Given the description of an element on the screen output the (x, y) to click on. 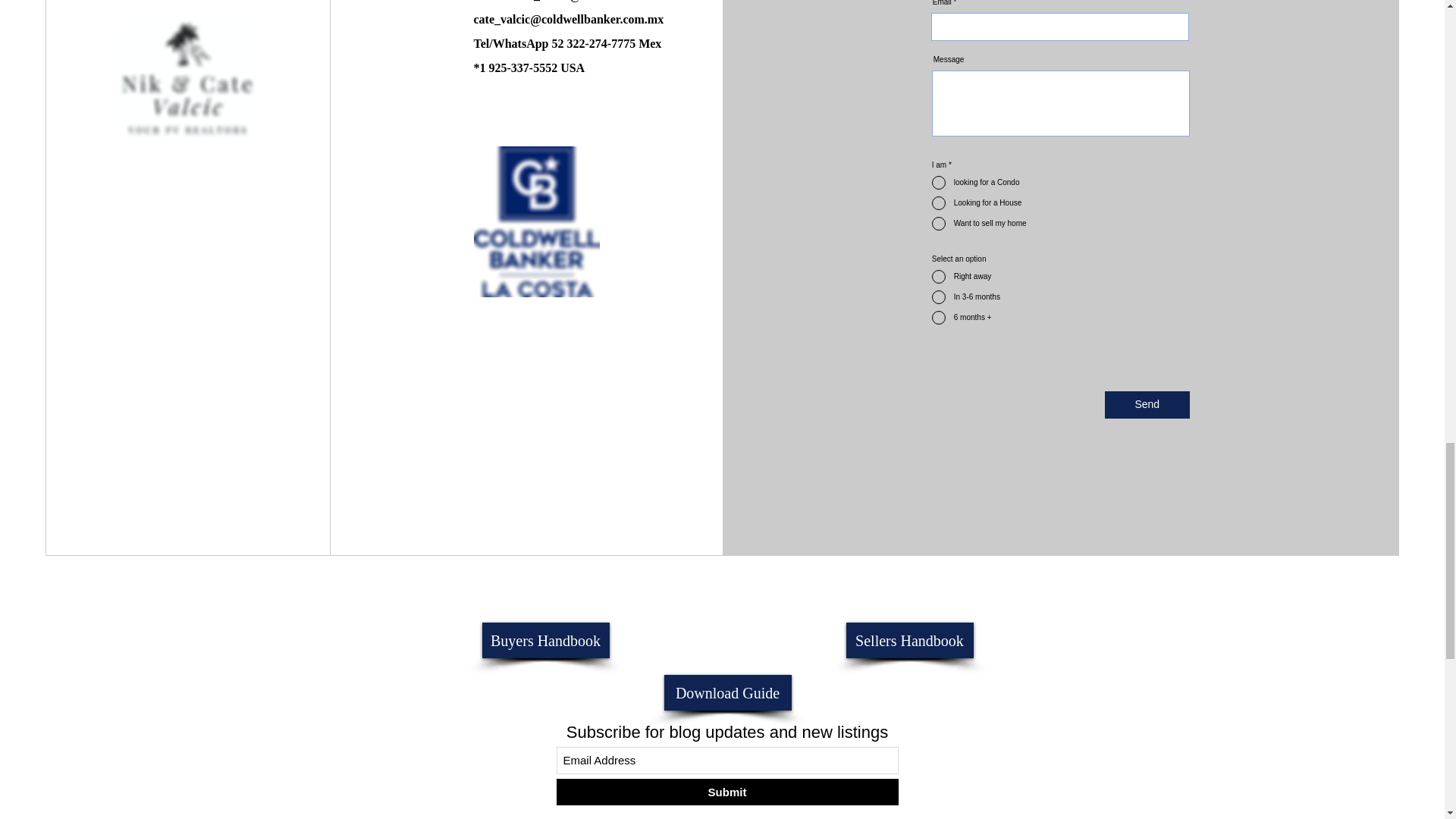
Buyers Handbook (545, 640)
Submit (727, 791)
Download Guide (727, 692)
Sellers Handbook (909, 640)
Send (1147, 404)
